Given the description of an element on the screen output the (x, y) to click on. 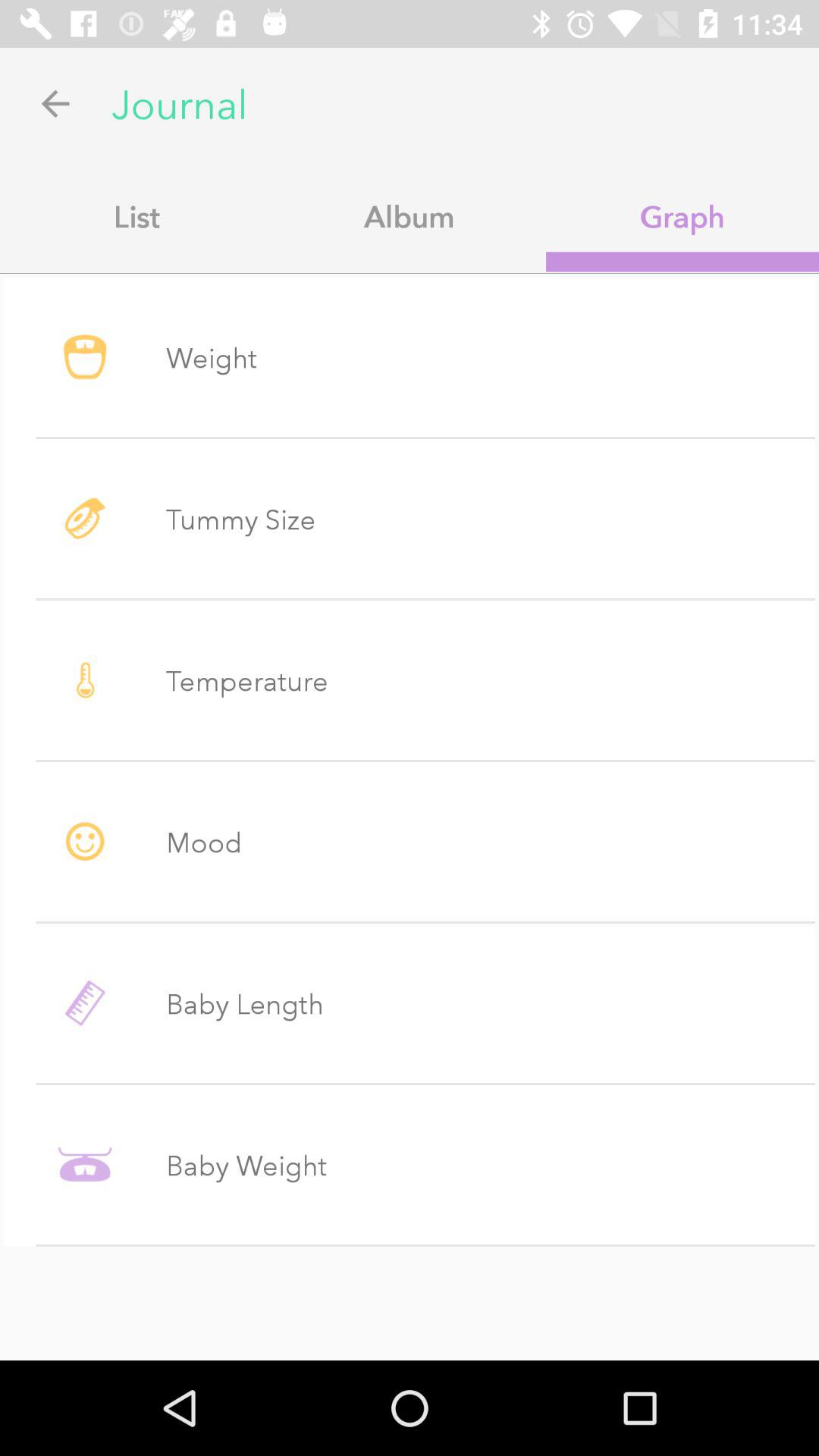
turn on item above the list item (55, 103)
